Given the description of an element on the screen output the (x, y) to click on. 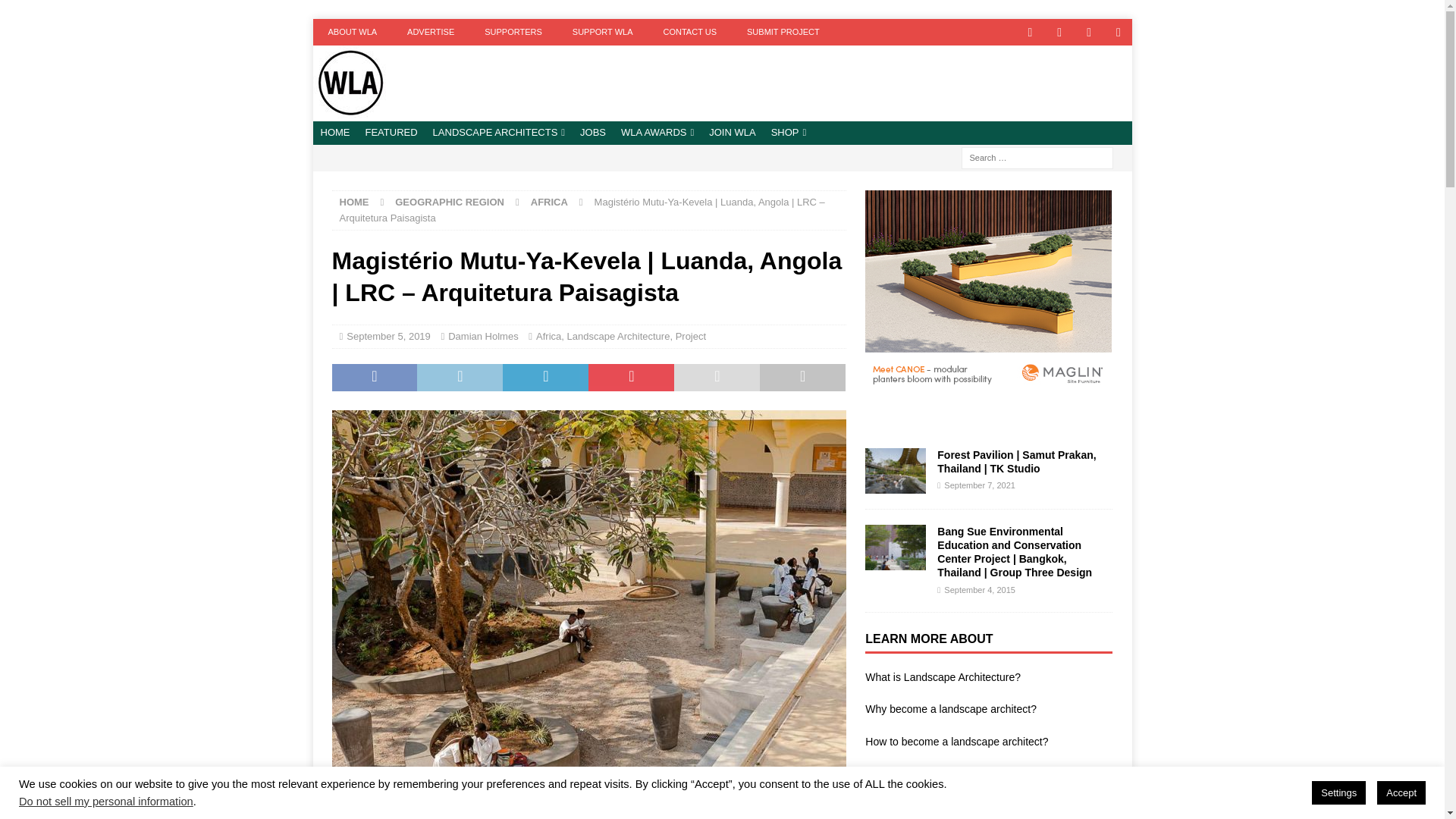
SUBMIT PROJECT (783, 31)
SUPPORT WLA (602, 31)
CONTACT US (689, 31)
ADVERTISE (429, 31)
World Landscape Architecture (350, 112)
SUPPORTERS (512, 31)
ABOUT WLA (352, 31)
